Given the description of an element on the screen output the (x, y) to click on. 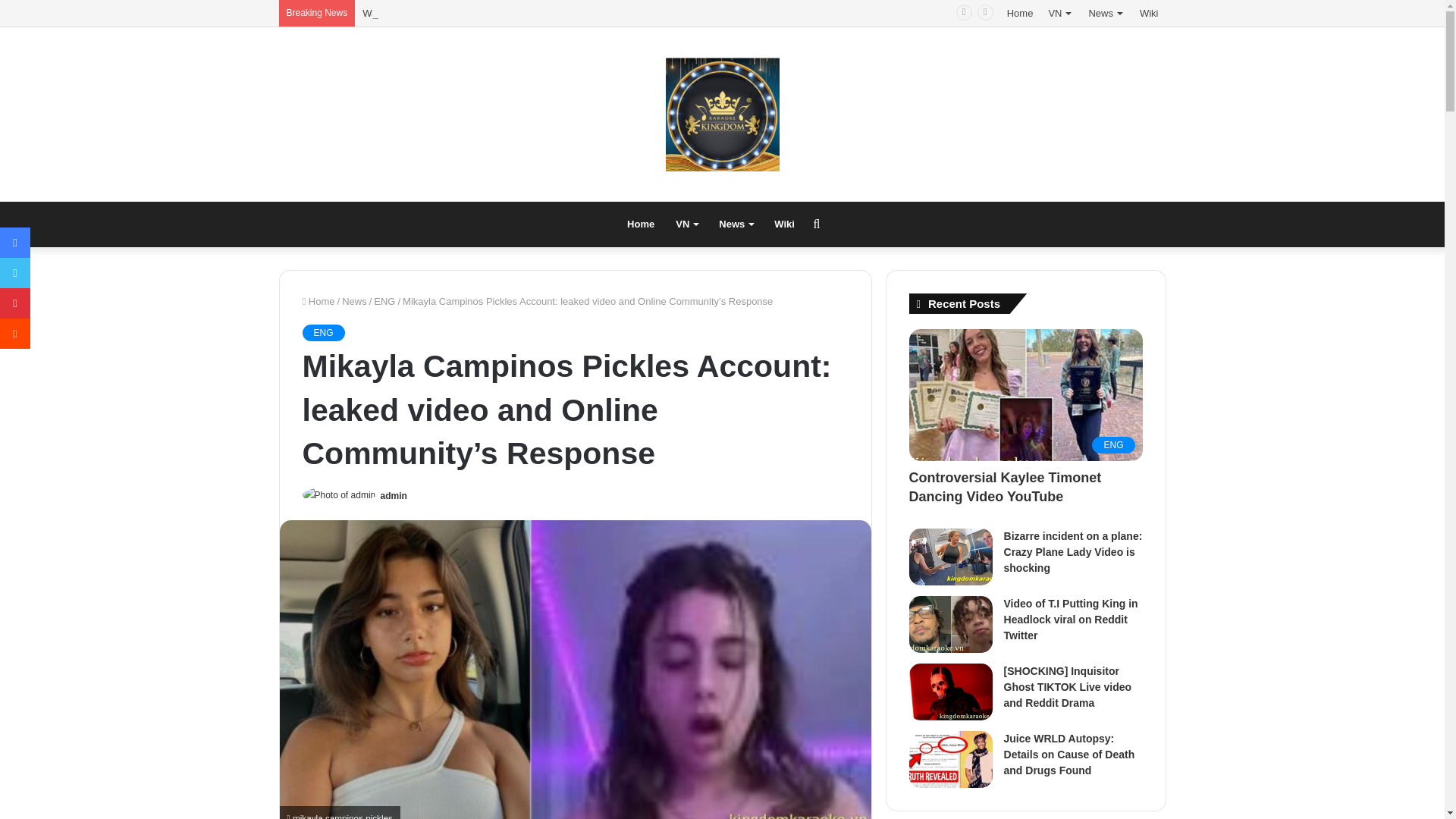
Watch full: Louise Abuel video Scadal on Twitter (467, 12)
VN (1060, 13)
Home (640, 224)
ENG (322, 332)
Pinterest (15, 303)
Twitter (15, 272)
Wiki (783, 224)
VN (686, 224)
Home (317, 301)
News (354, 301)
News (734, 224)
ENG (384, 301)
Kingdom Karaoke (721, 114)
admin (393, 495)
admin (393, 495)
